Given the description of an element on the screen output the (x, y) to click on. 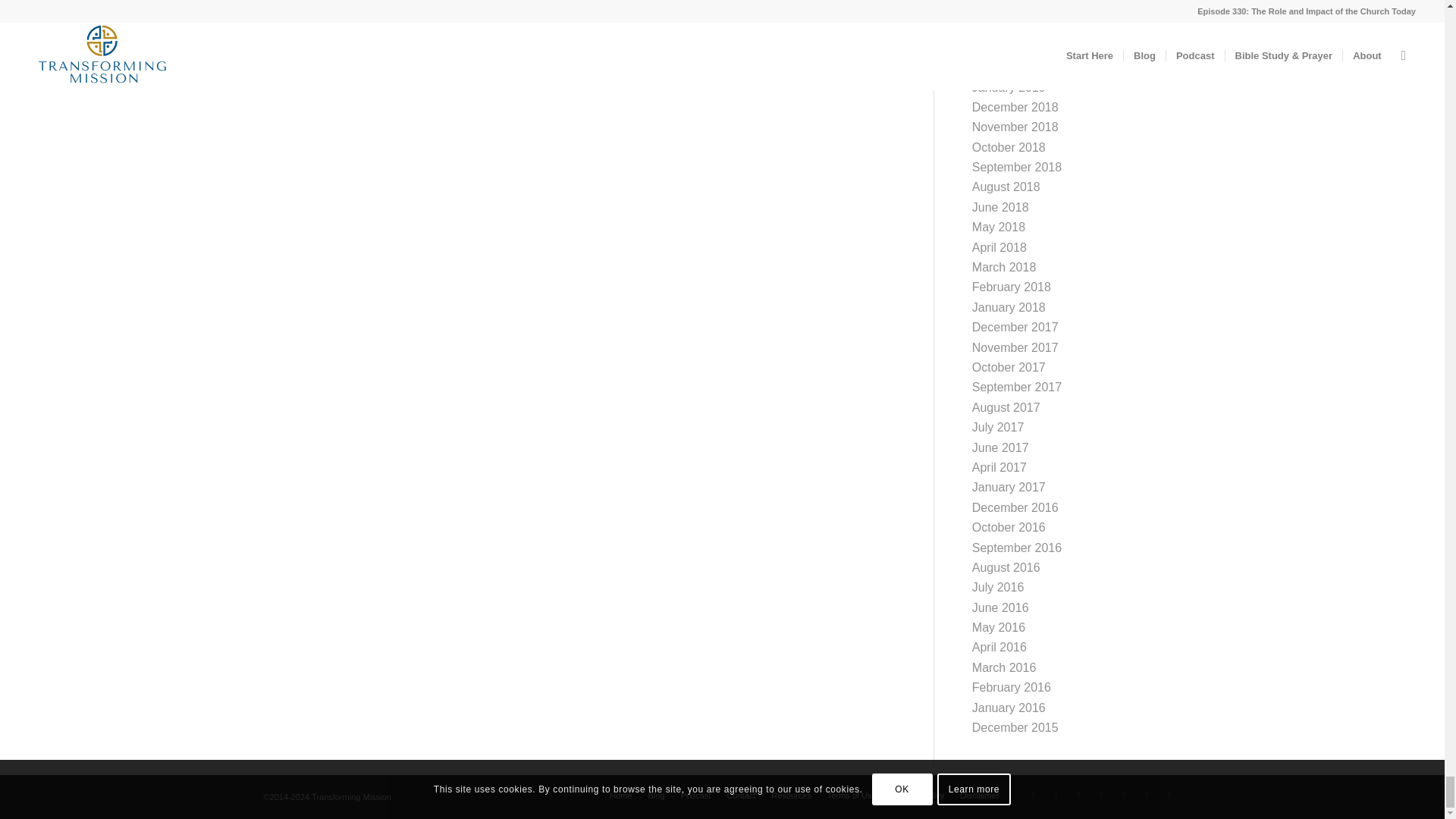
Mail (1078, 793)
X (1033, 793)
Instagram (1124, 793)
Facebook (1056, 793)
Youtube (1169, 793)
Pinterest (1146, 793)
Rss (1101, 793)
